Given the description of an element on the screen output the (x, y) to click on. 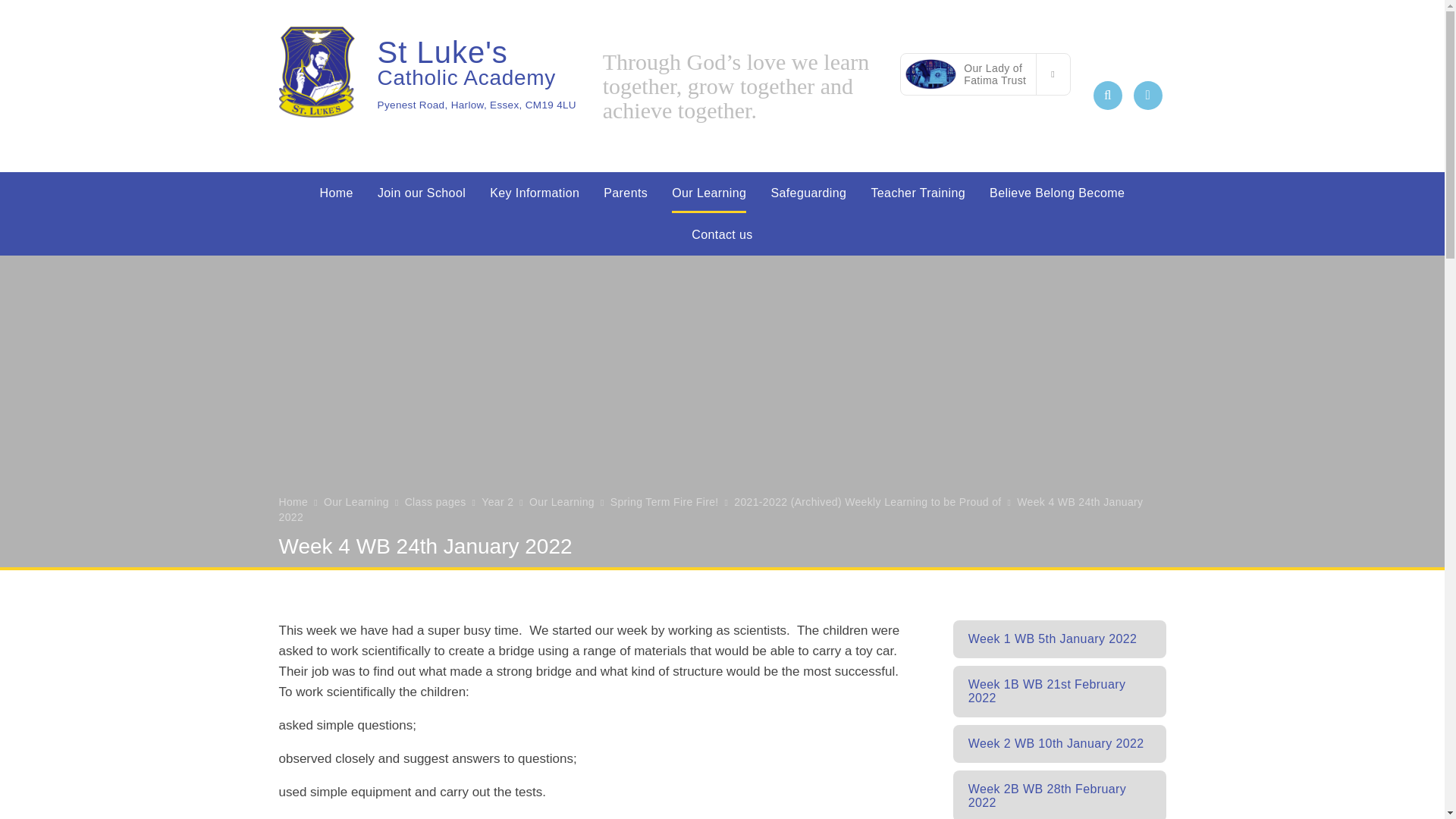
Home (336, 192)
Parents (625, 192)
Key Information (534, 192)
Join our School (421, 192)
